Given the description of an element on the screen output the (x, y) to click on. 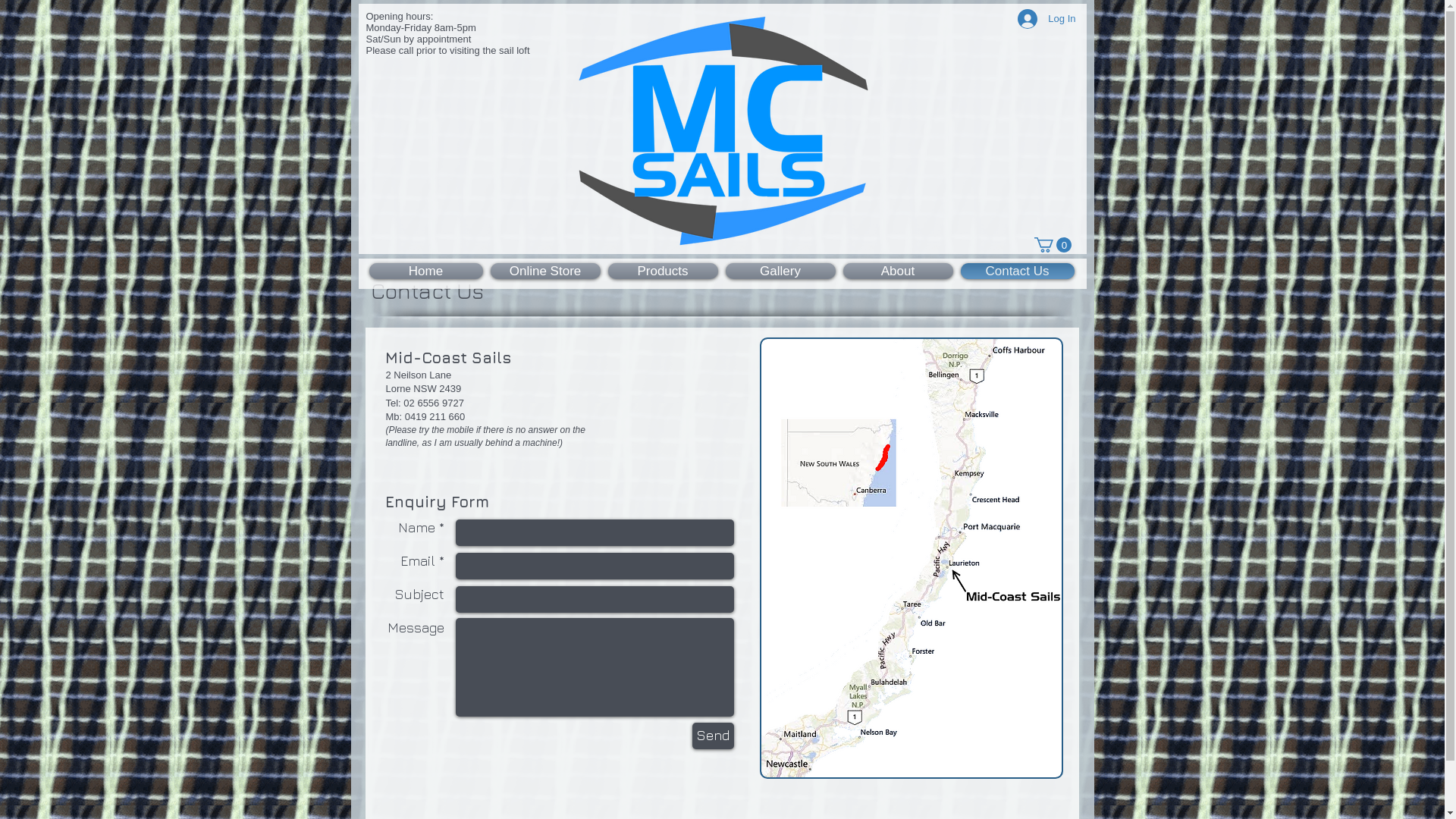
mcssails_masthead.png Element type: hover (721, 129)
Products Element type: text (662, 271)
Home Element type: text (427, 271)
Gallery Element type: text (780, 271)
0 Element type: text (1052, 244)
Online Store Element type: text (545, 271)
About Element type: text (897, 271)
Log In Element type: text (1046, 18)
Send Element type: text (712, 735)
Contact Us Element type: text (1015, 271)
